Given the description of an element on the screen output the (x, y) to click on. 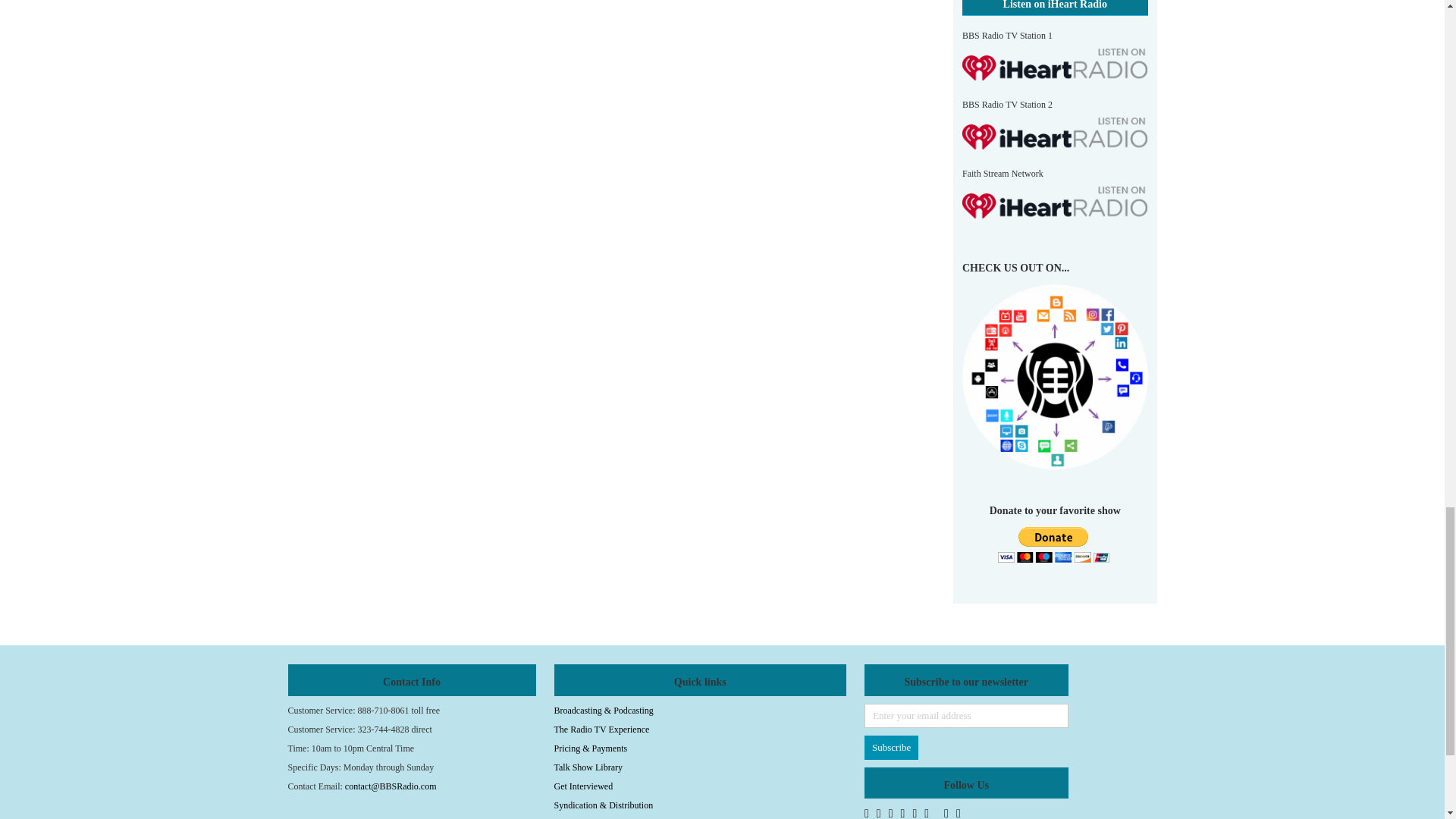
Subscribe (891, 747)
